Given the description of an element on the screen output the (x, y) to click on. 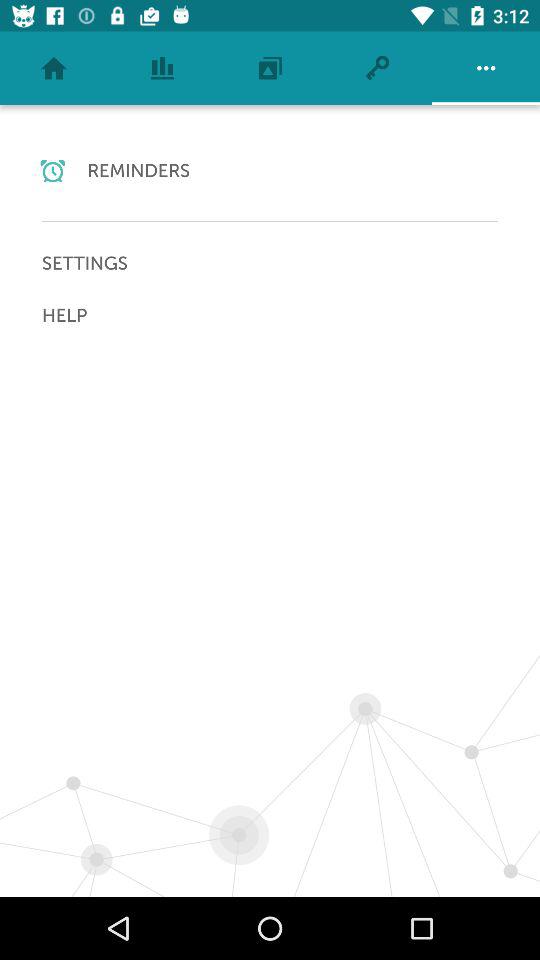
click the item below the settings (270, 315)
